Given the description of an element on the screen output the (x, y) to click on. 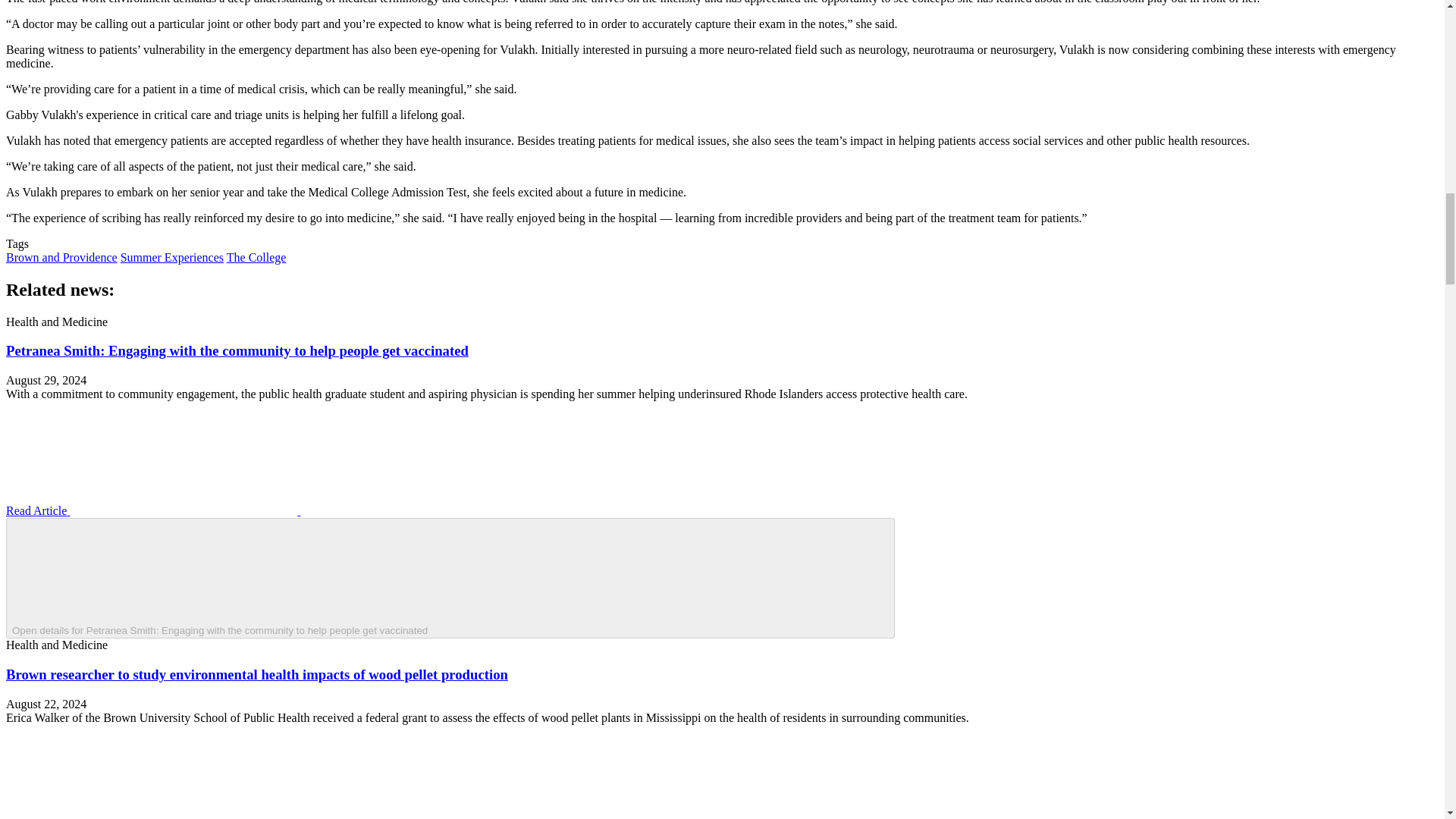
The College (256, 256)
Summer Experiences (172, 256)
Read Article (266, 510)
Brown and Providence (61, 256)
